Given the description of an element on the screen output the (x, y) to click on. 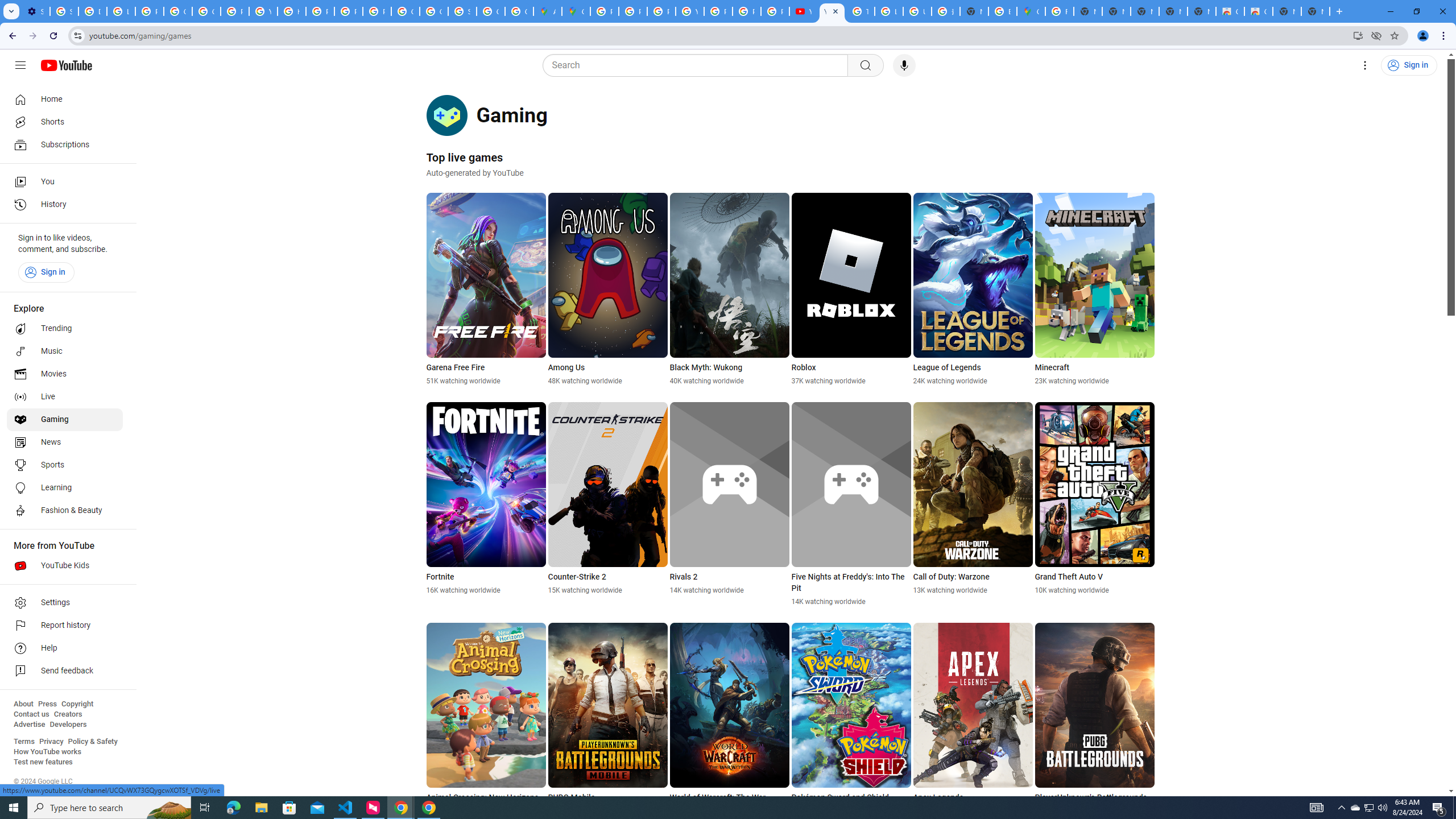
Google Maps (575, 11)
PlayerUnknown's Battlegrounds 5K watching worldwide (1094, 719)
YouTube Kids (64, 565)
Movies (64, 373)
Live (64, 396)
How YouTube works (47, 751)
Google Account Help (178, 11)
Press (46, 703)
Apex Legends 5.2K watching worldwide (972, 719)
News (64, 441)
Sports (64, 464)
